Given the description of an element on the screen output the (x, y) to click on. 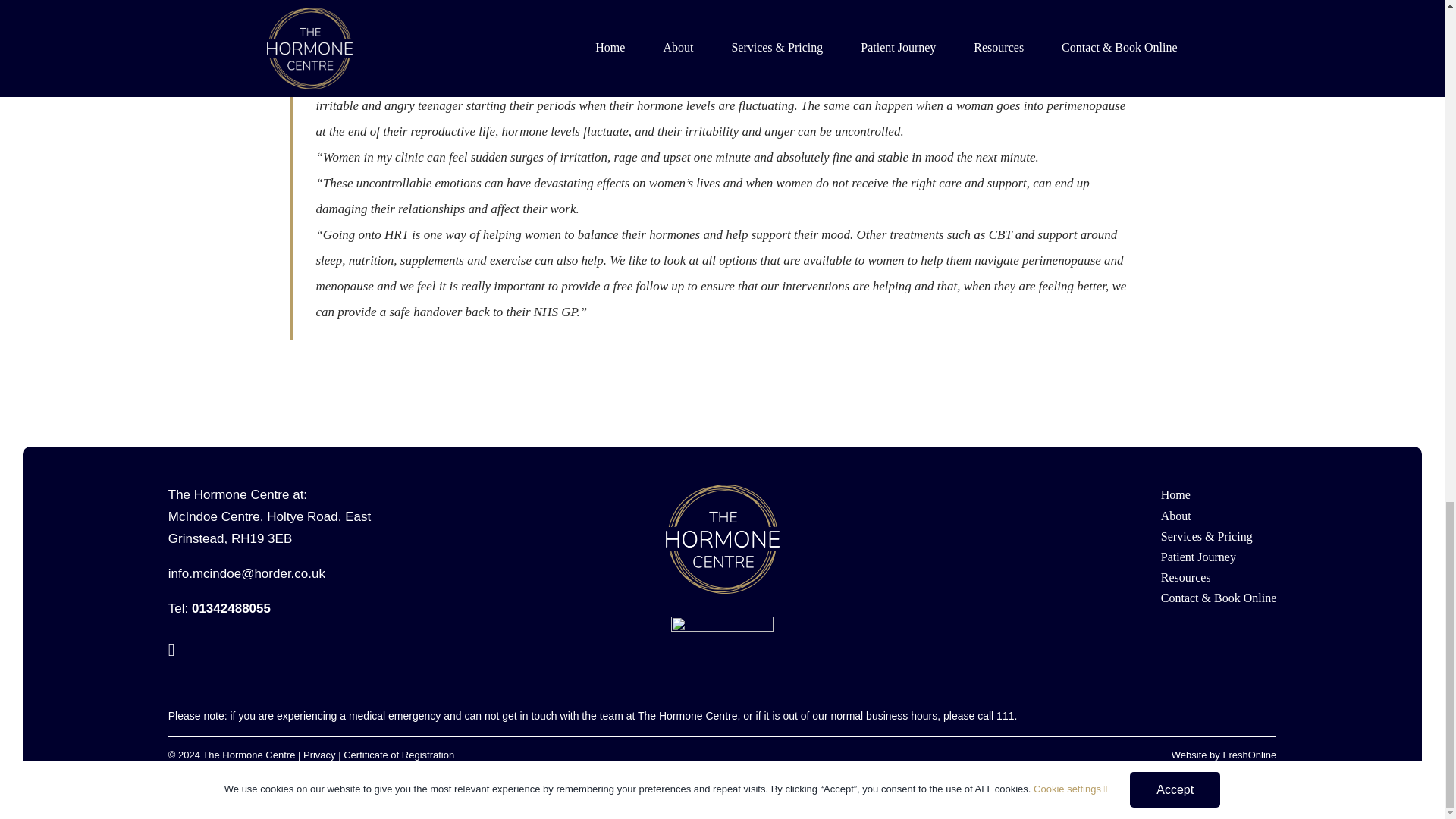
Certificate of Registration (398, 754)
FreshOnline (1249, 754)
Privacy (319, 754)
Resources (1218, 577)
Patient Journey (1218, 557)
About (1218, 516)
Clinic website design (1249, 754)
Home (1218, 494)
